Given the description of an element on the screen output the (x, y) to click on. 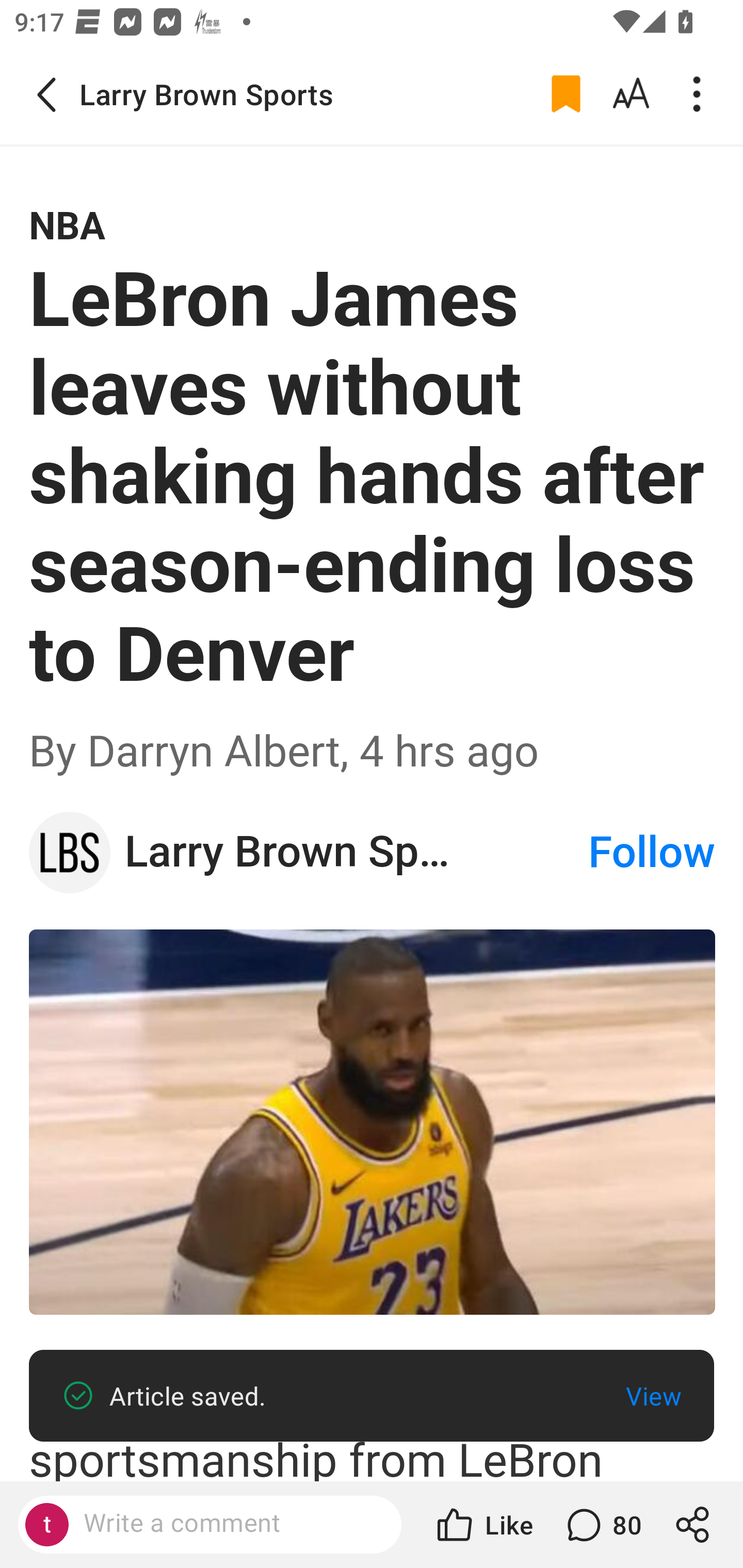
Larry (70, 851)
Larry Brown Sports (355, 852)
Follow (651, 851)
View (653, 1395)
Like (483, 1524)
80 (601, 1524)
Write a comment (226, 1523)
